Given the description of an element on the screen output the (x, y) to click on. 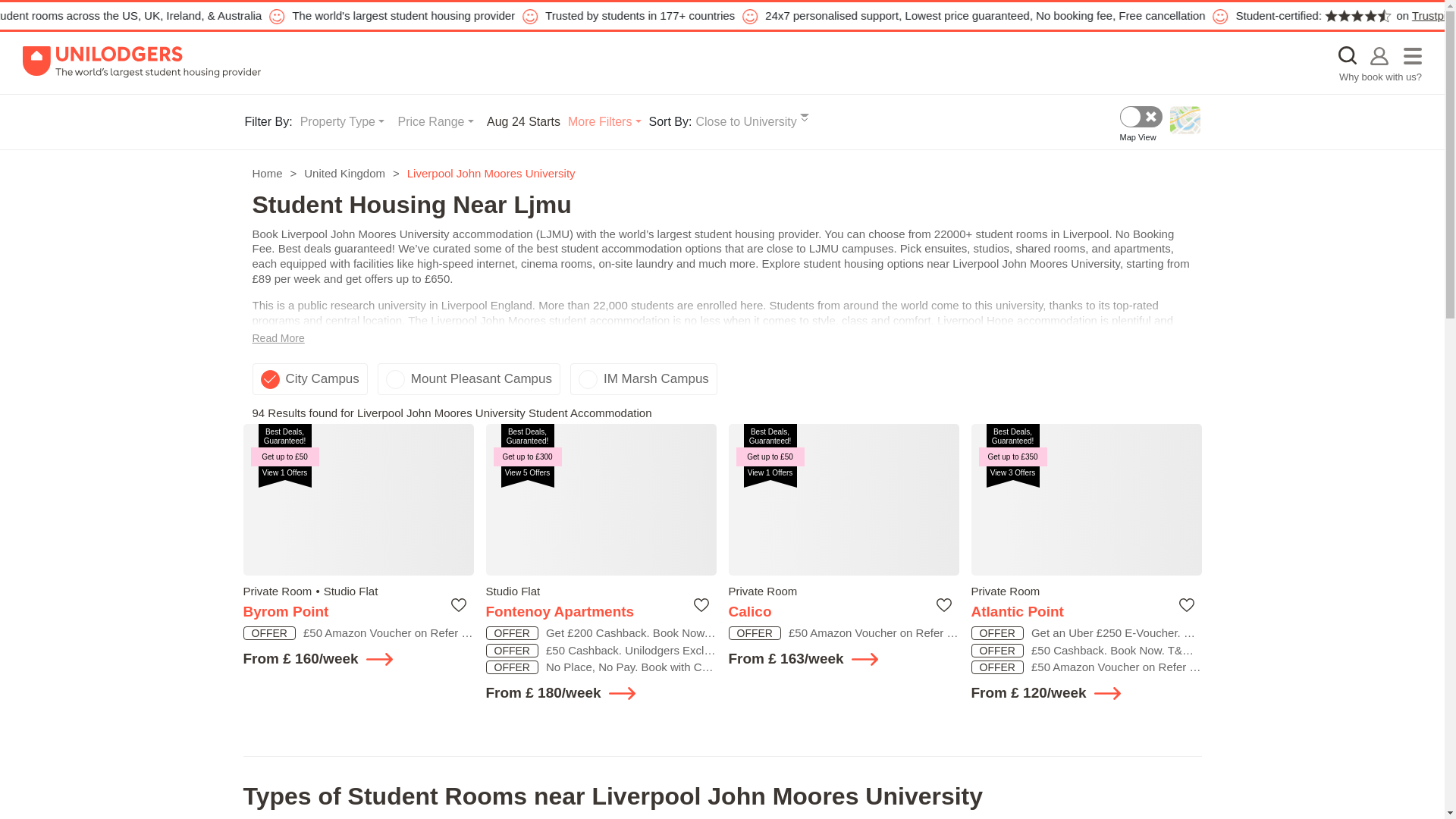
Loading interface... (600, 499)
United Kingdom (344, 173)
More Filters (604, 122)
Price Range (435, 122)
Unilodgers (141, 62)
Loading interface... (600, 499)
user settings (1379, 55)
Fontenoy Apartments (576, 611)
Studio Flat (512, 591)
toggle navigation (1412, 55)
